Given the description of an element on the screen output the (x, y) to click on. 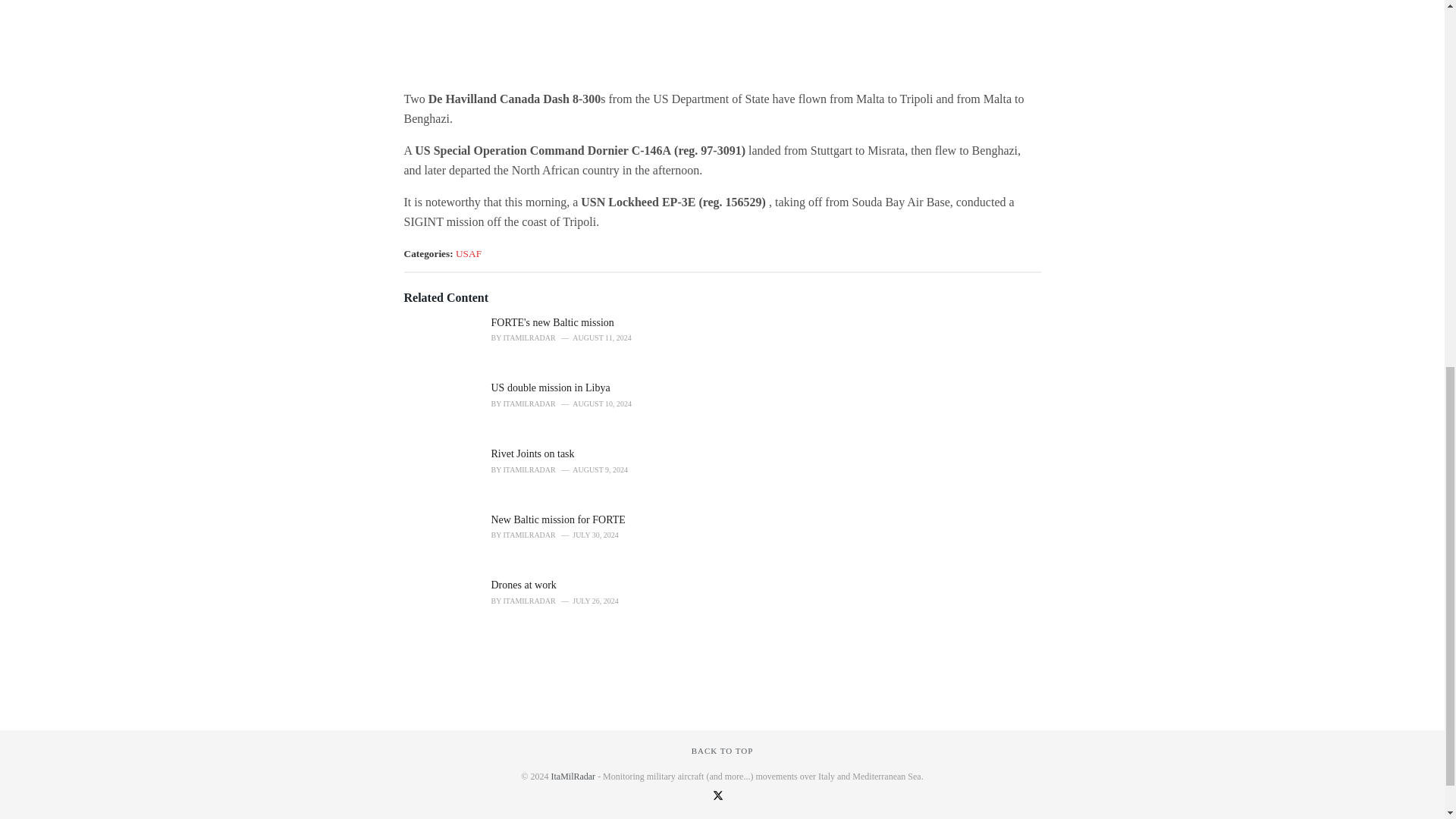
FORTE's new Baltic mission (553, 322)
US double mission in Libya (551, 387)
Drones at work (524, 584)
New Baltic mission for FORTE (559, 519)
ItaMilRadar (572, 776)
USAF (468, 253)
Rivet Joints on task (533, 453)
BACK TO TOP (722, 750)
